Given the description of an element on the screen output the (x, y) to click on. 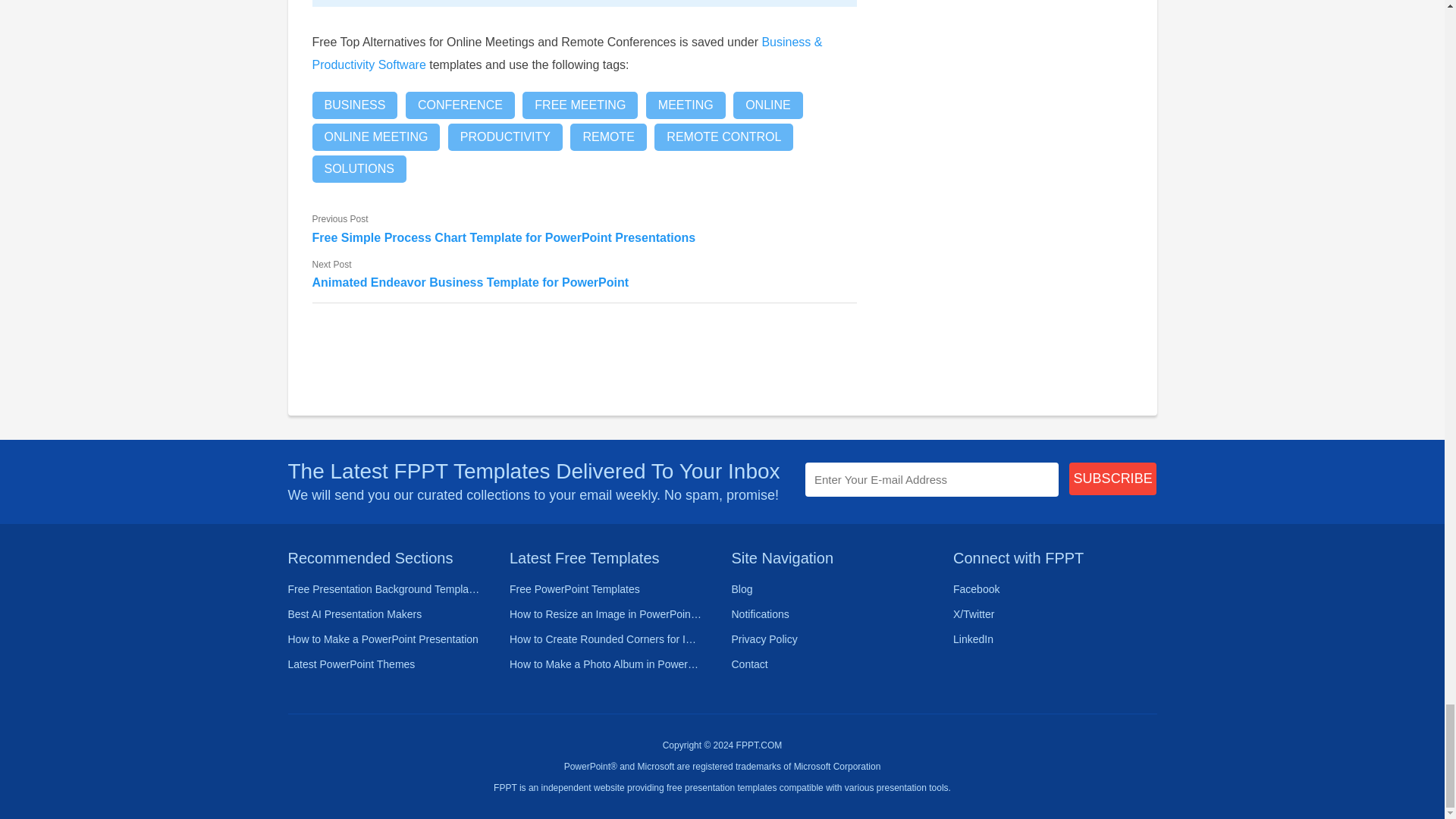
BUSINESS (355, 104)
PRODUCTIVITY (505, 136)
REMOTE (608, 136)
Subscribe (1112, 478)
CONFERENCE (460, 104)
MEETING (685, 104)
ONLINE (768, 104)
FREE MEETING (579, 104)
REMOTE CONTROL (723, 136)
SOLUTIONS (359, 168)
